Given the description of an element on the screen output the (x, y) to click on. 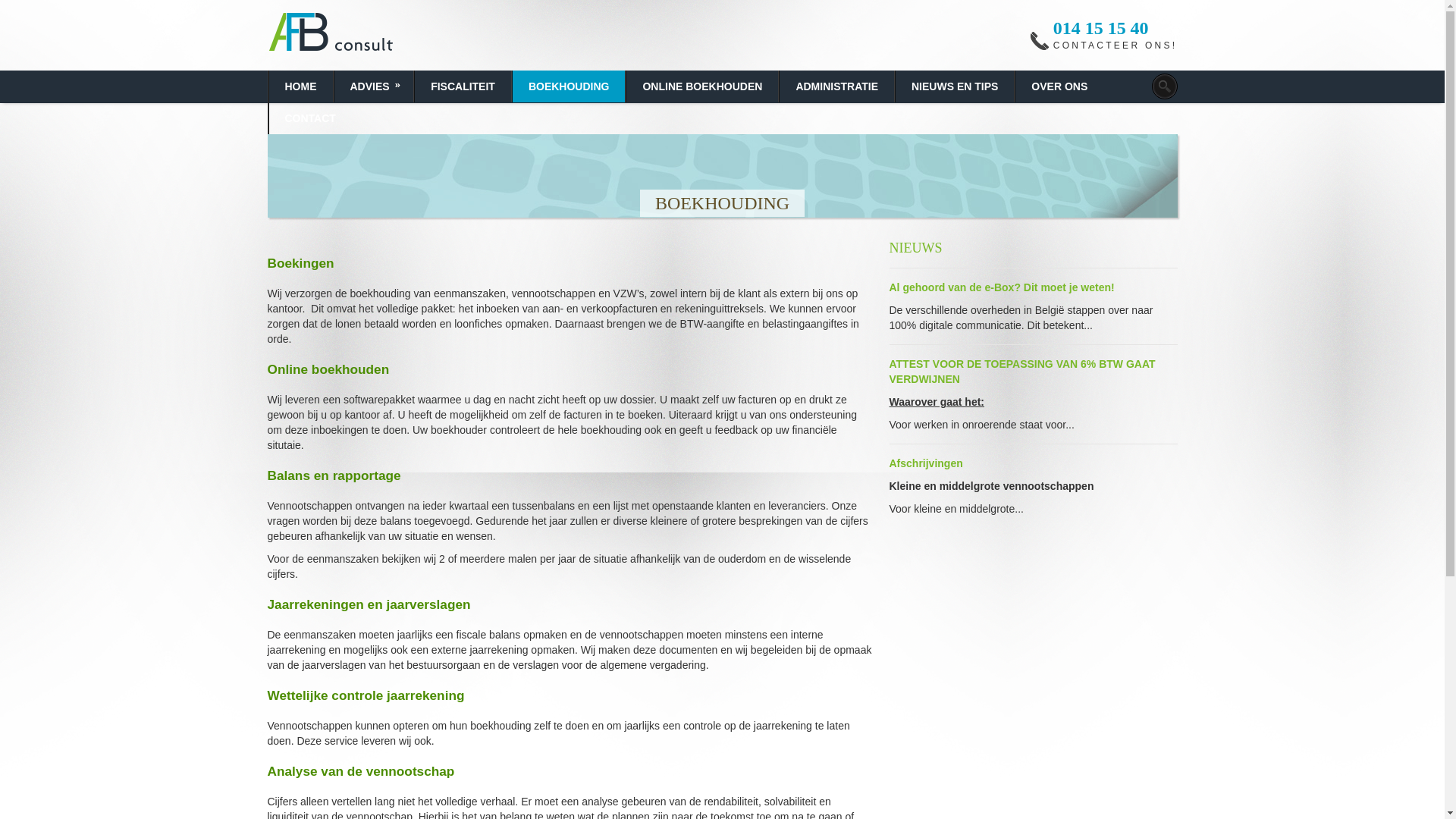
FISCALITEIT Element type: text (462, 86)
HOME Element type: text (300, 86)
OVER ONS Element type: text (1059, 86)
Home Element type: hover (356, 35)
NIEUWS
(ACTIEVE TABBLAD) Element type: text (914, 247)
ONLINE BOEKHOUDEN Element type: text (702, 86)
Overslaan en naar de inhoud gaan Element type: text (86, 0)
ADMINISTRATIE Element type: text (836, 86)
NIEUWS EN TIPS Element type: text (954, 86)
Afschrijvingen Element type: text (925, 463)
ATTEST VOOR DE TOEPASSING VAN 6% BTW GAAT VERDWIJNEN Element type: text (1021, 371)
Zoeken Element type: text (32, 10)
Al gehoord van de e-Box? Dit moet je weten! Element type: text (1000, 287)
Geef de woorden op waarnaar u wilt zoeken. Element type: hover (1163, 86)
CONTACT Element type: text (309, 118)
BOEKHOUDING Element type: text (568, 86)
